Given the description of an element on the screen output the (x, y) to click on. 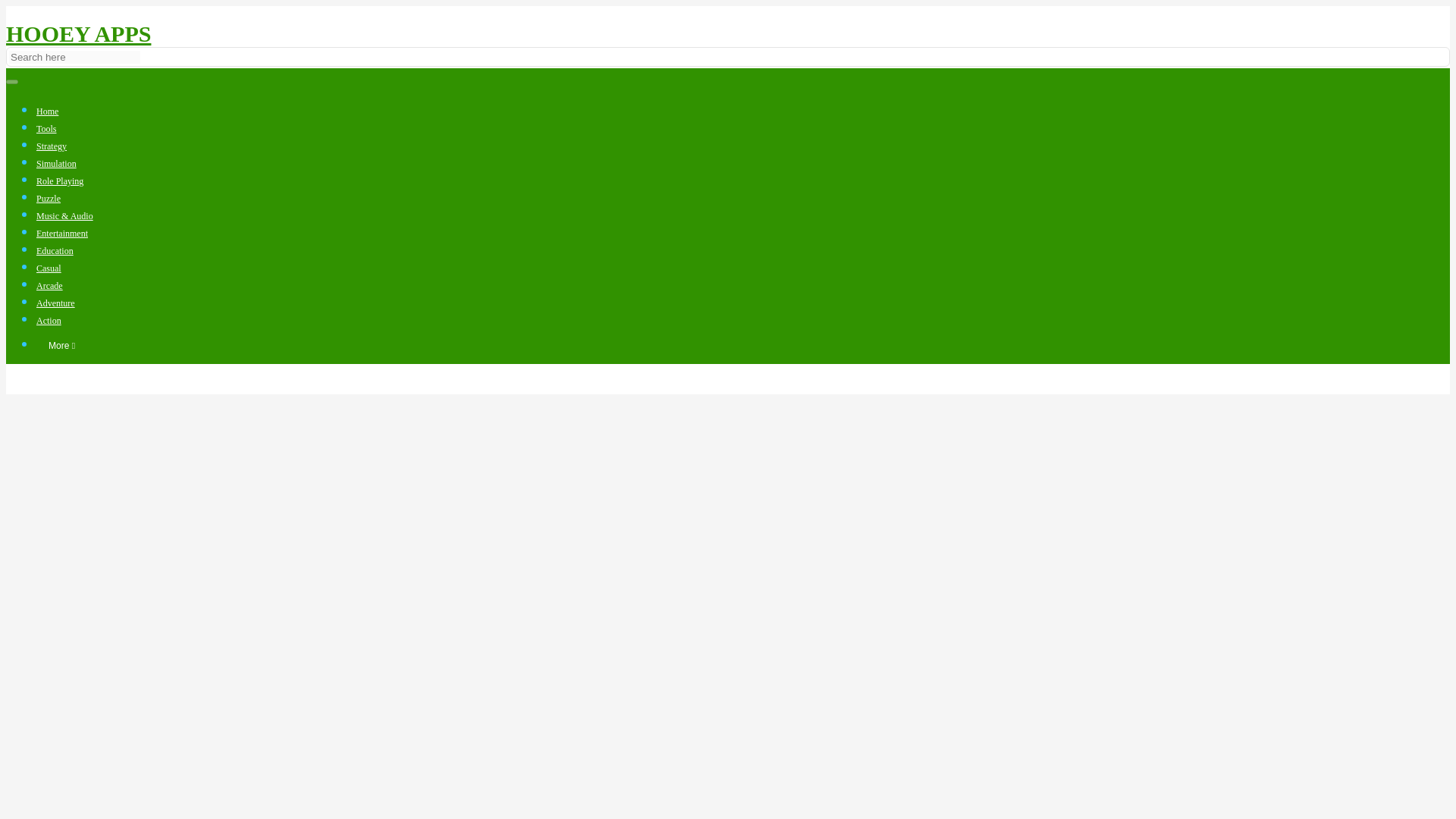
Adventure (55, 303)
Home (47, 111)
Arcade (49, 285)
Simulation (56, 163)
Action (48, 320)
More (61, 345)
HOOEY APPS (78, 33)
Tools (46, 128)
Role Playing (59, 181)
Education (55, 250)
Puzzle (48, 198)
Entertainment (61, 233)
Strategy (51, 145)
Casual (48, 267)
